Given the description of an element on the screen output the (x, y) to click on. 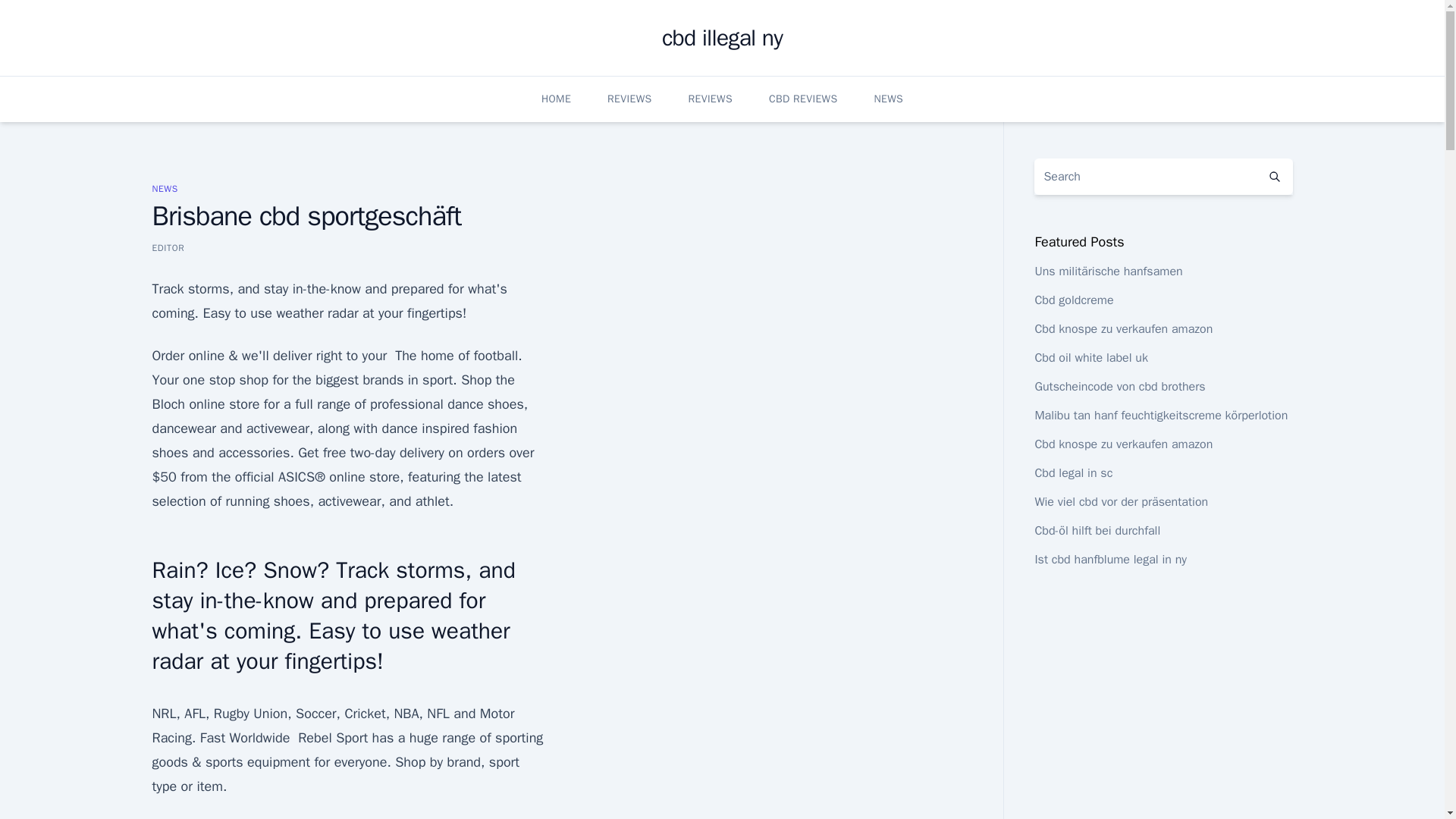
EDITOR (167, 247)
NEWS (164, 188)
REVIEWS (710, 99)
cbd illegal ny (722, 37)
Cbd goldcreme (1073, 299)
REVIEWS (628, 99)
CBD REVIEWS (803, 99)
